Given the description of an element on the screen output the (x, y) to click on. 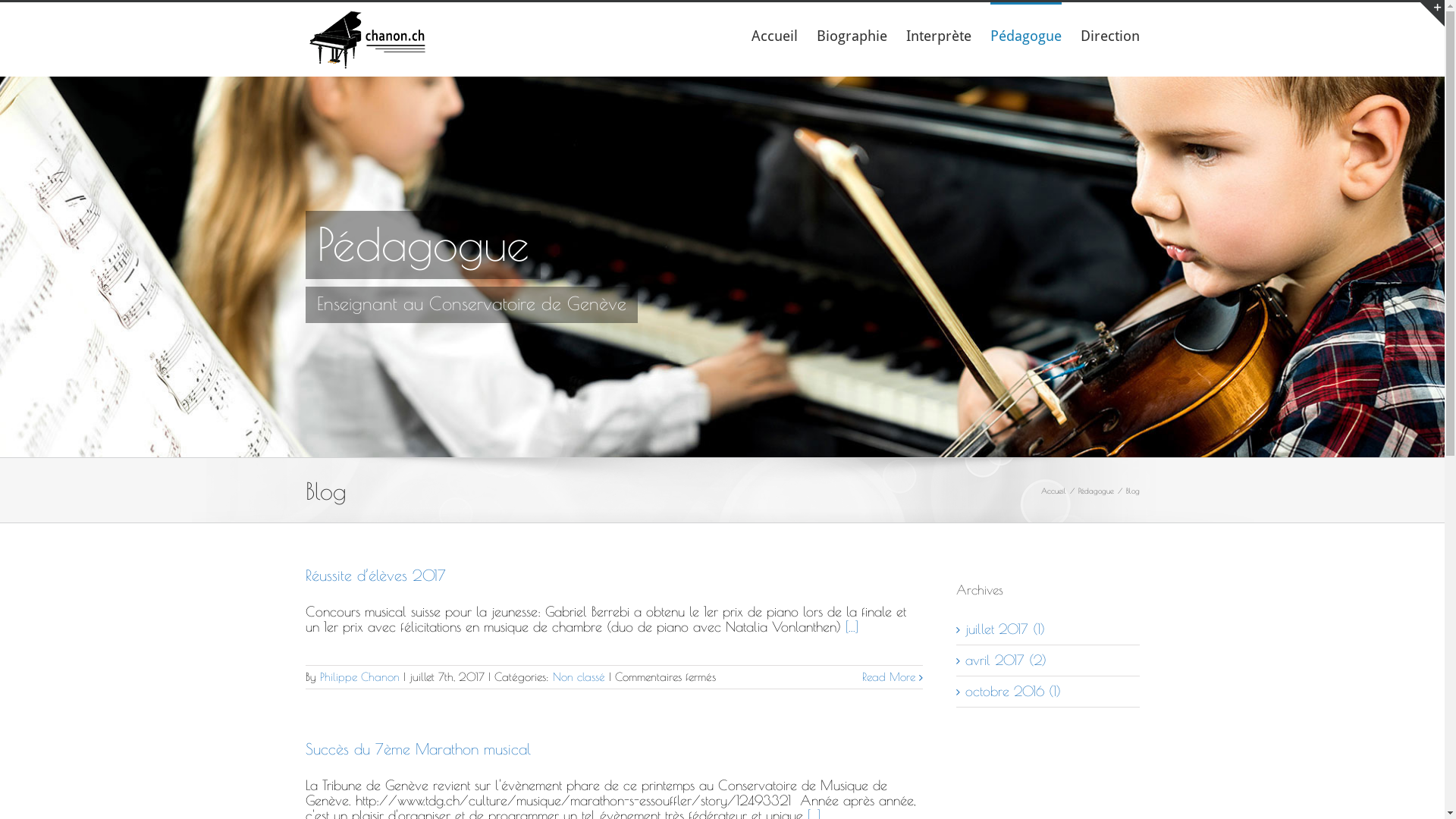
Philippe Chanon Element type: text (359, 676)
juillet 2017 (1) Element type: text (1004, 629)
[...] Element type: text (850, 626)
Biographie Element type: text (850, 34)
Read More Element type: text (887, 676)
Accueil Element type: text (1052, 489)
avril 2017 (2) Element type: text (1004, 660)
Accueil Element type: text (773, 34)
octobre 2016 (1) Element type: text (1012, 691)
Direction Element type: text (1109, 34)
